Given the description of an element on the screen output the (x, y) to click on. 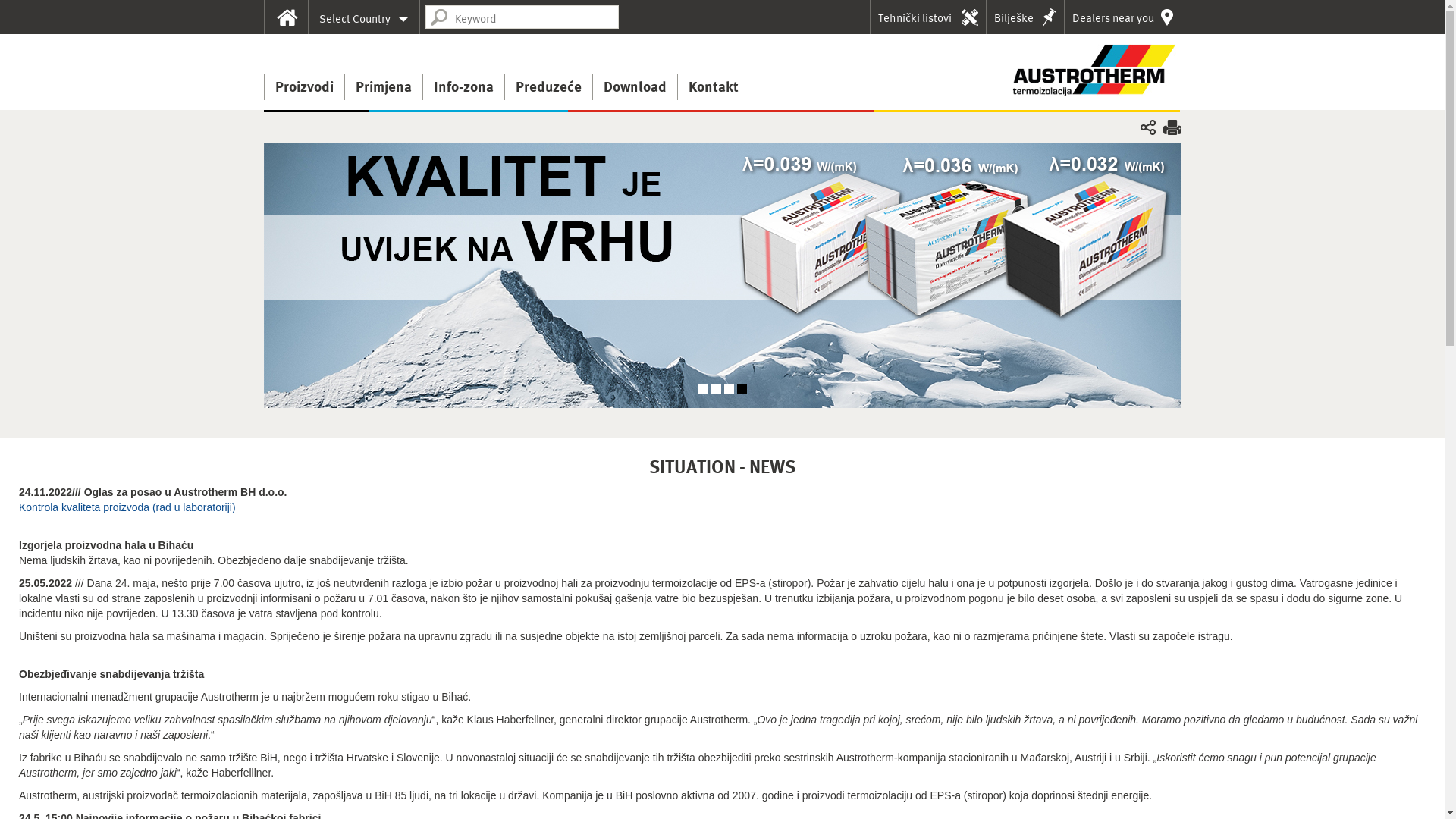
Kontrola kvaliteta proizvoda (rad u laboratoriji) Element type: text (126, 507)
Select Country Element type: text (362, 16)
Primjena Element type: text (383, 87)
Proizvodi Element type: text (303, 87)
Download Element type: text (633, 87)
Dealers near you Element type: text (1121, 17)
Kontakt Element type: text (712, 87)
Info-zona Element type: text (462, 87)
